Given the description of an element on the screen output the (x, y) to click on. 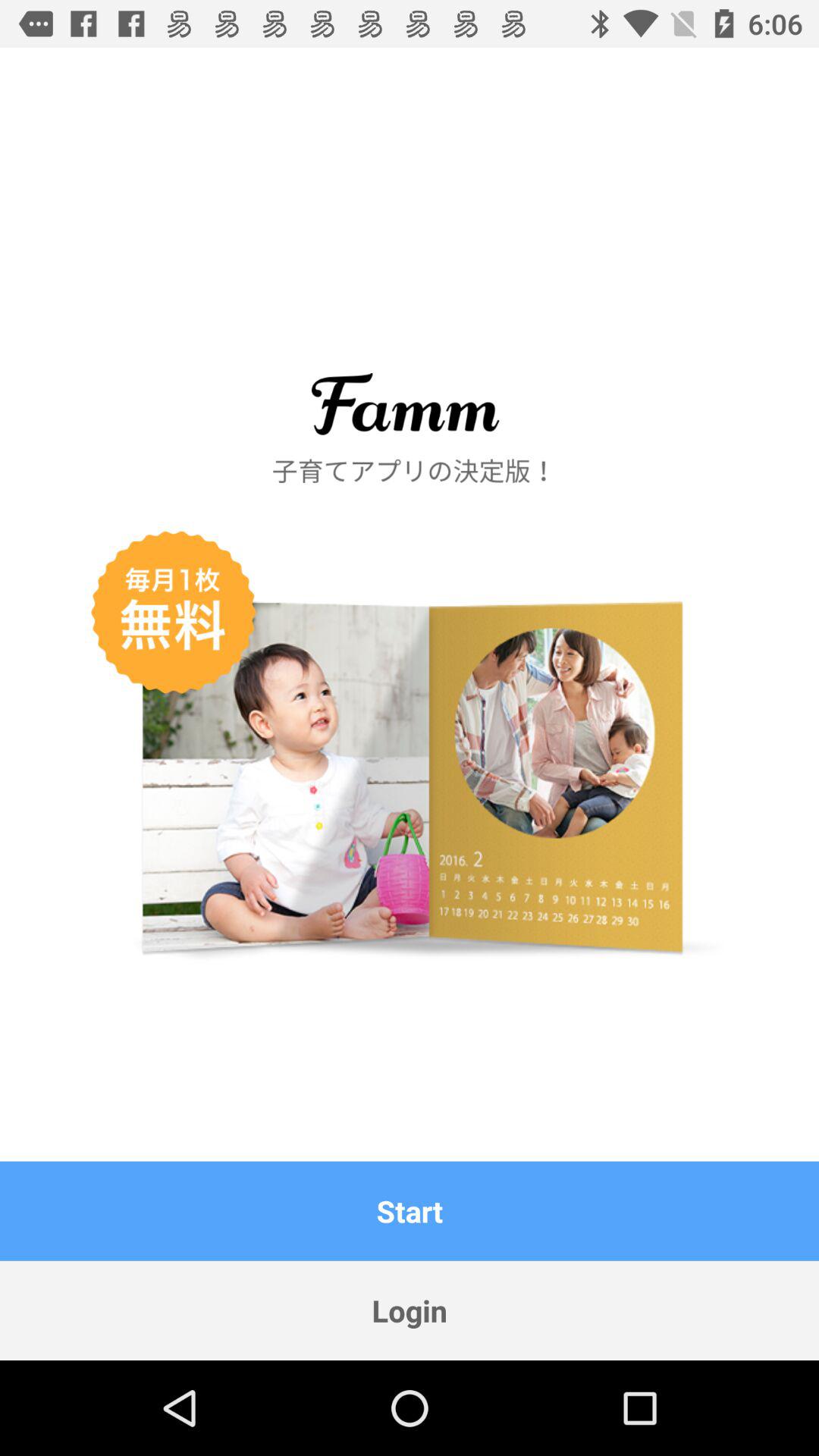
jump until the start (409, 1210)
